Given the description of an element on the screen output the (x, y) to click on. 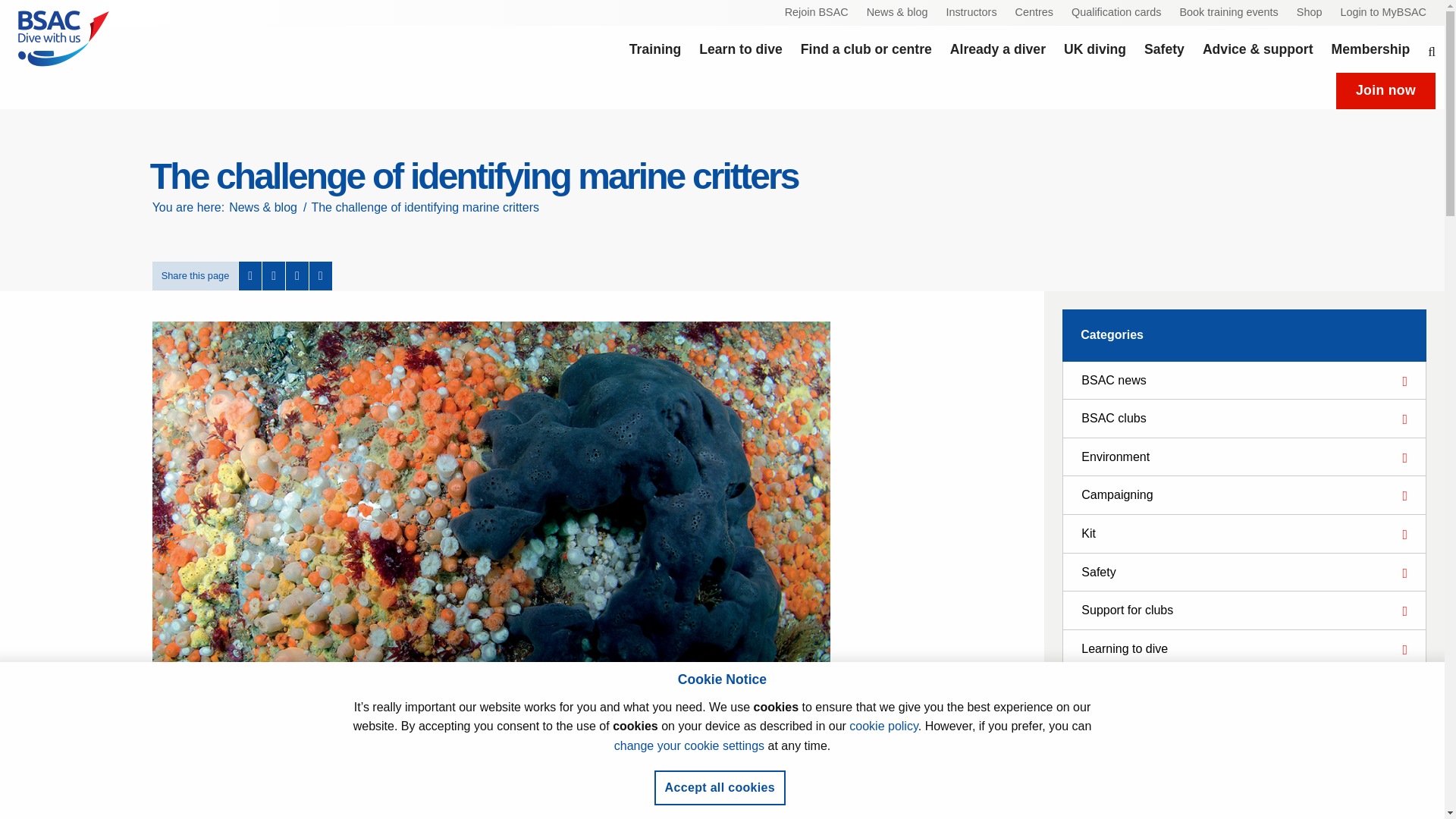
Shop (1309, 12)
Login to MyBSAC (1382, 12)
Instructors (969, 12)
Qualification cards (1115, 12)
Centres (1033, 12)
Book training events (1228, 12)
Rejoin BSAC (816, 12)
Training (655, 48)
